Given the description of an element on the screen output the (x, y) to click on. 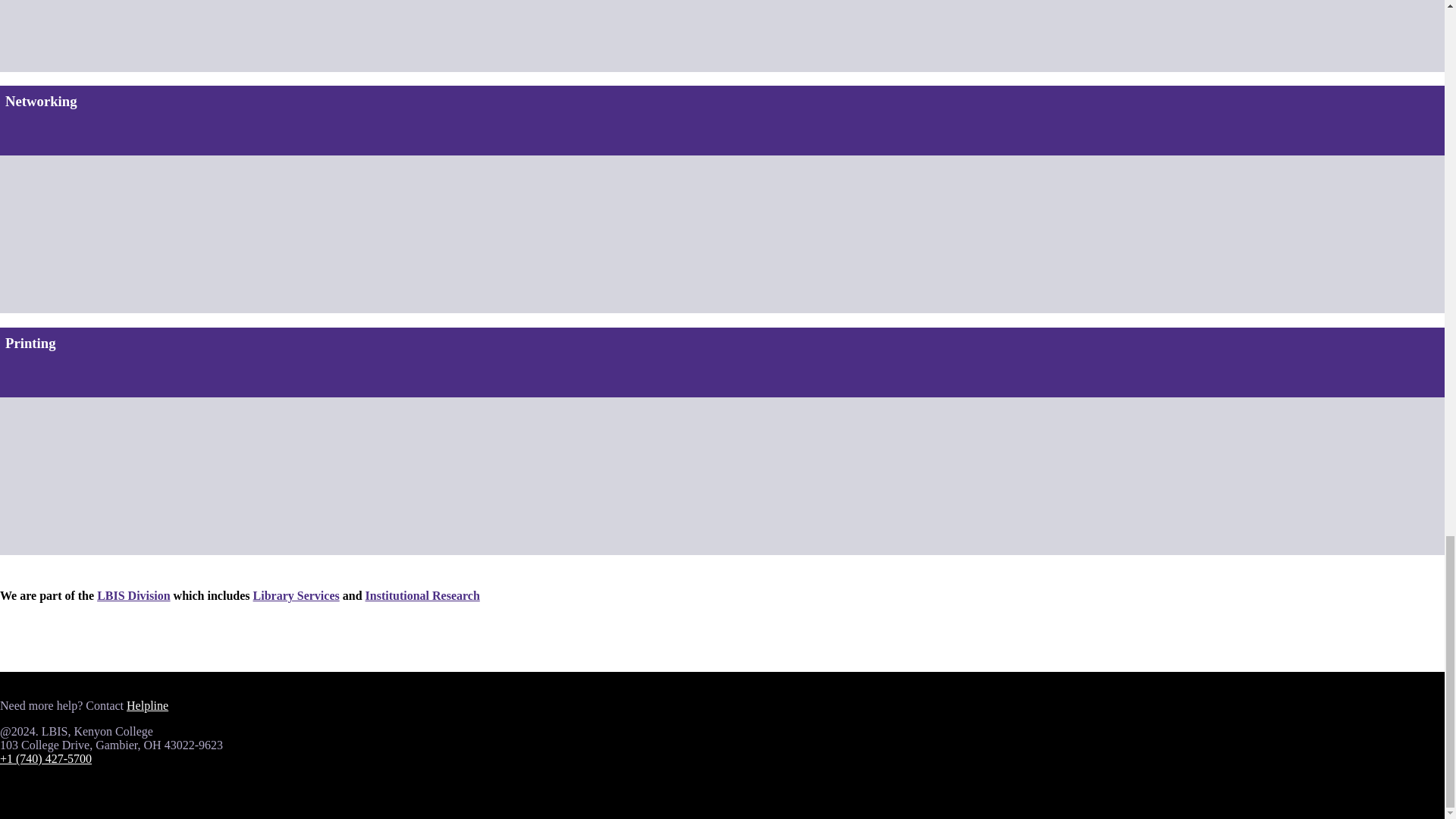
LBIS Division (133, 594)
Helpline (147, 705)
Library Services (296, 594)
Institutional Research (422, 594)
